Given the description of an element on the screen output the (x, y) to click on. 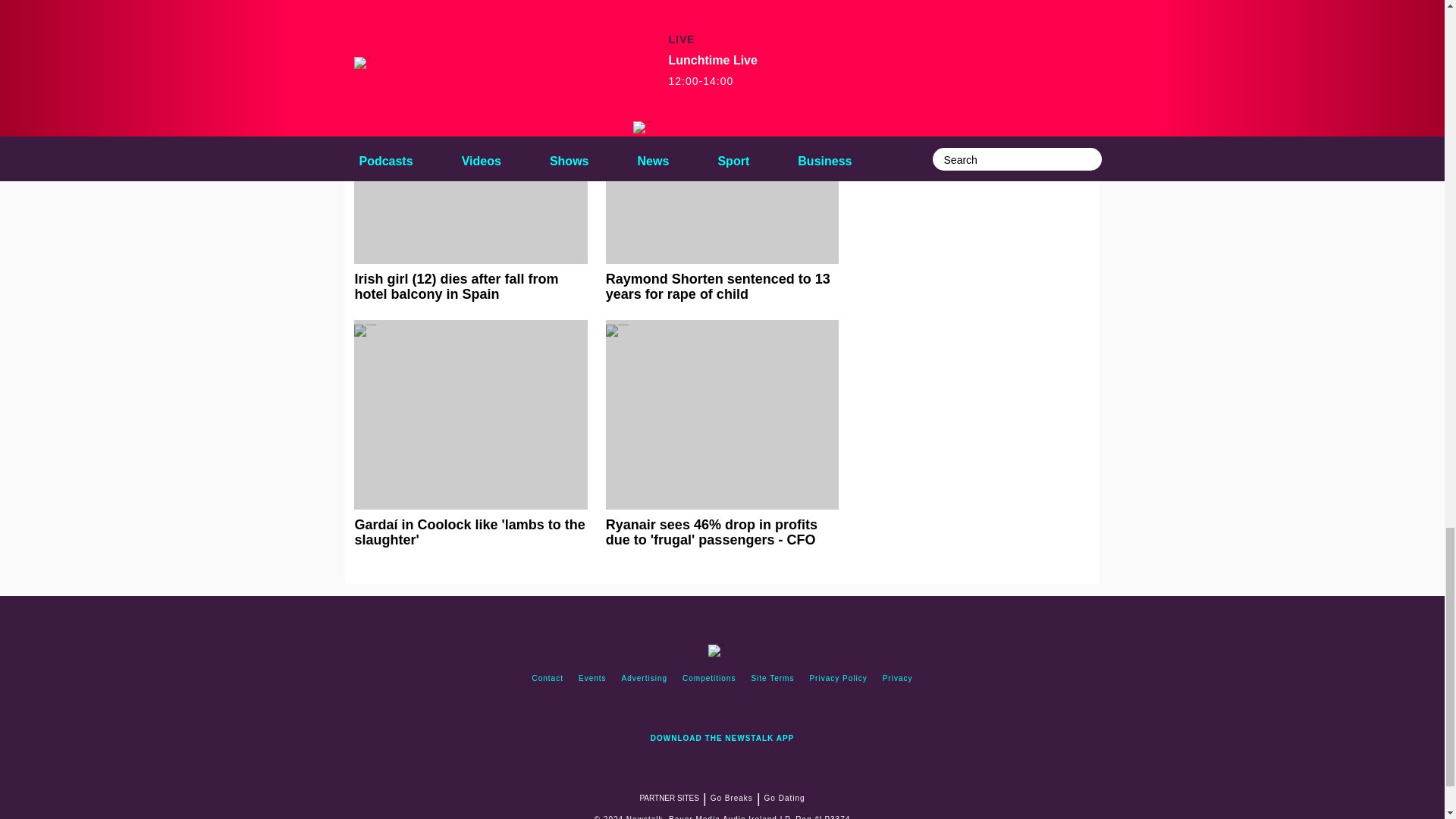
Privacy (897, 678)
Privacy Policy (838, 678)
contact (547, 678)
site terms (772, 678)
advertising (644, 678)
events (592, 678)
competitions (708, 678)
